Given the description of an element on the screen output the (x, y) to click on. 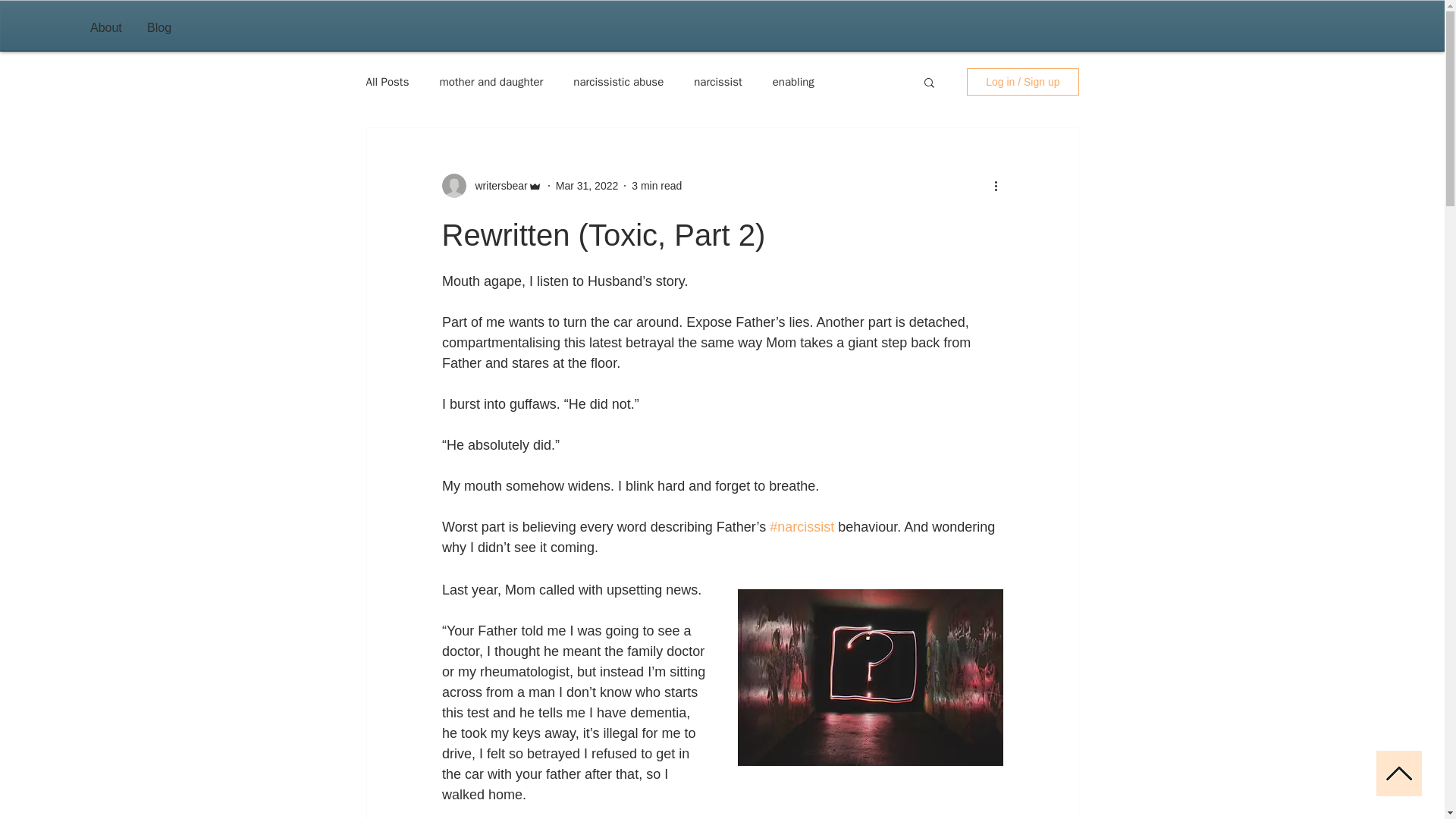
narcissistic abuse (618, 81)
writersbear (496, 185)
Mar 31, 2022 (587, 184)
Blog (159, 27)
enabling (793, 81)
About (106, 27)
mother and daughter (491, 81)
narcissist (718, 81)
All Posts (387, 81)
3 min read (656, 184)
